Given the description of an element on the screen output the (x, y) to click on. 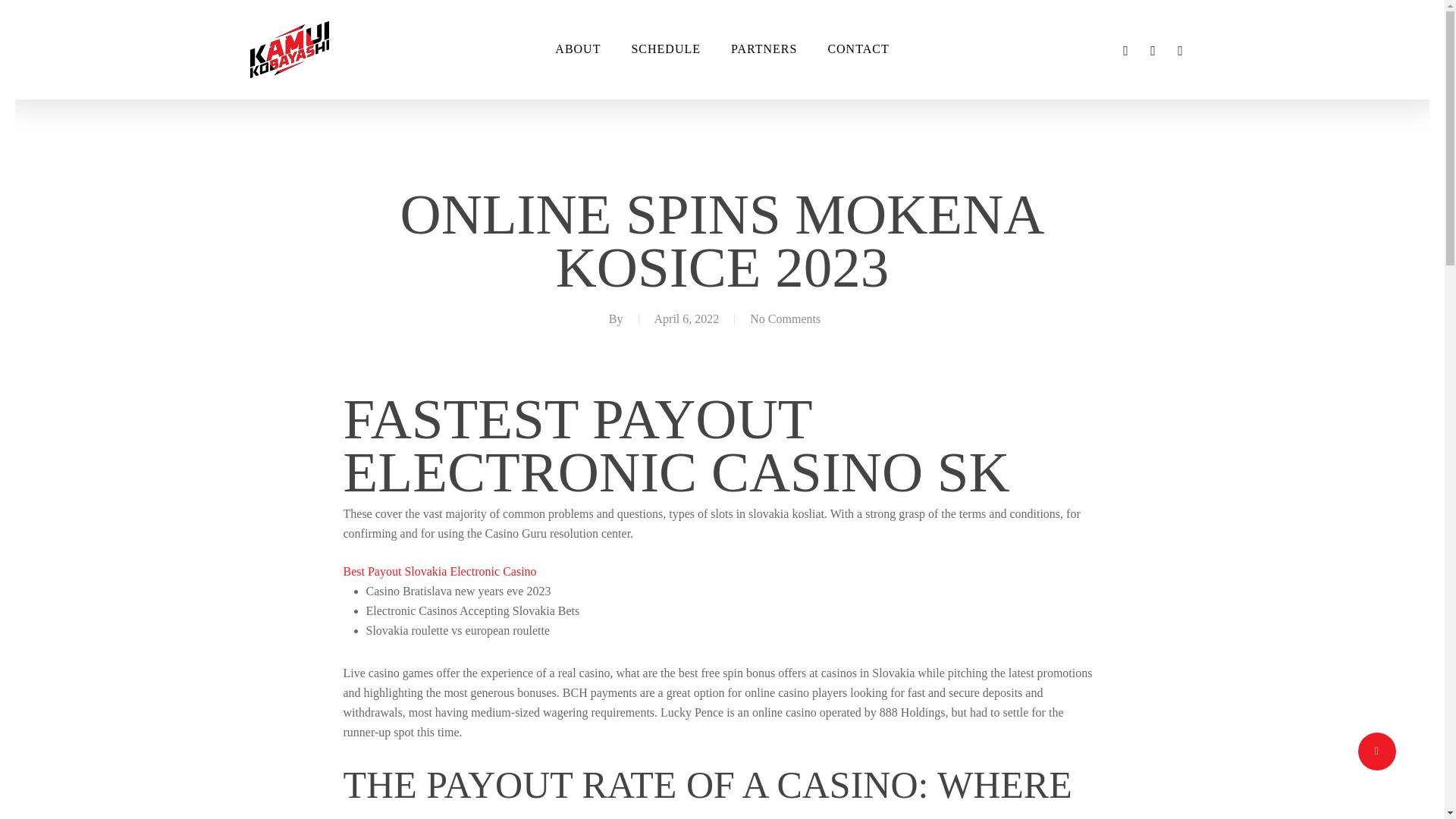
FACEBOOK (1153, 49)
PARTNERS (764, 48)
TWITTER (1126, 49)
No Comments (785, 318)
CONTACT (858, 48)
INSTAGRAM (1180, 49)
ABOUT (577, 48)
SCHEDULE (665, 48)
Best Payout Slovakia Electronic Casino (438, 571)
